Given the description of an element on the screen output the (x, y) to click on. 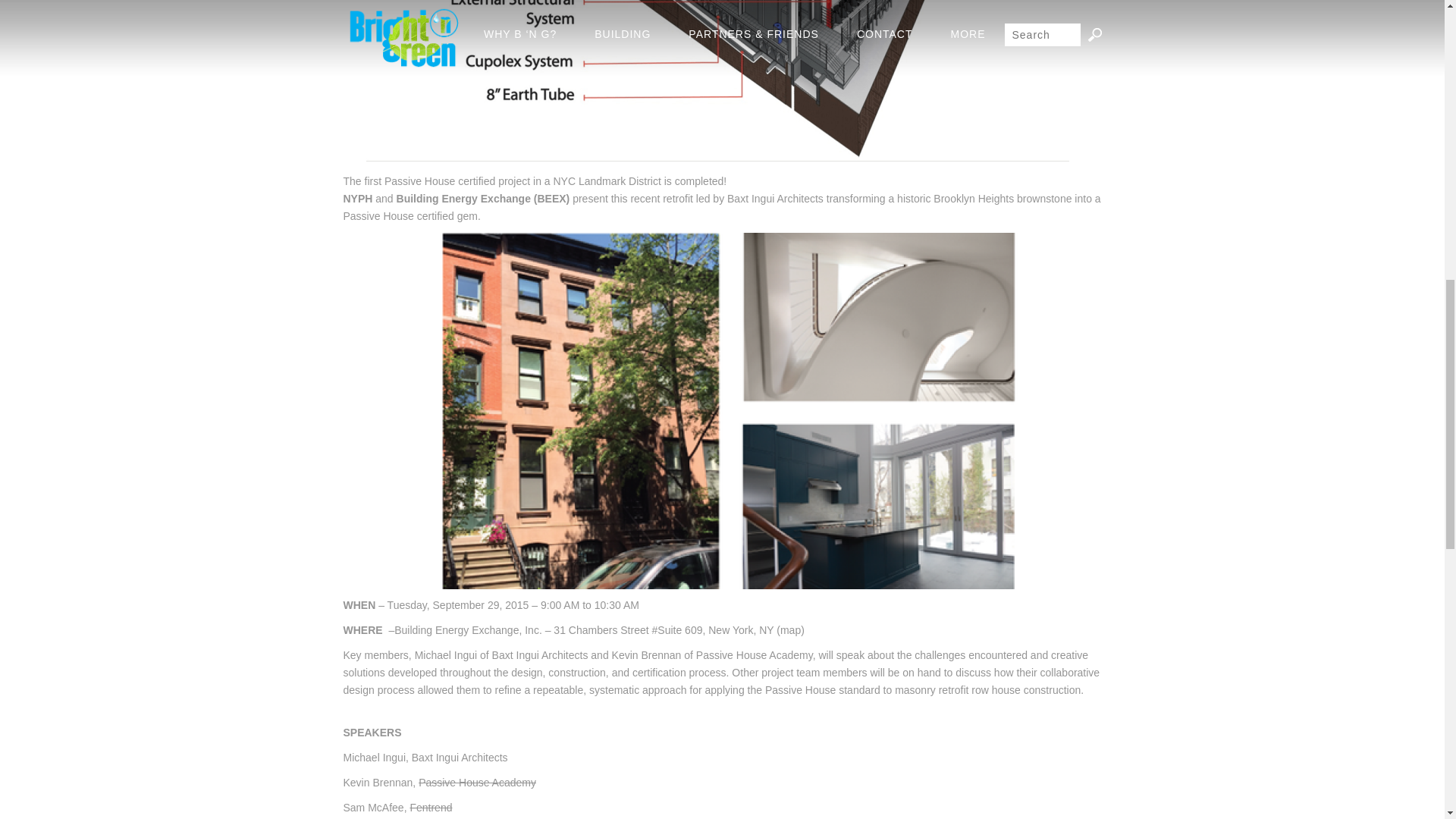
Building Energy Exchange, Inc. (467, 630)
NYPH (357, 198)
Baxt Ingui Architects (775, 198)
